Given the description of an element on the screen output the (x, y) to click on. 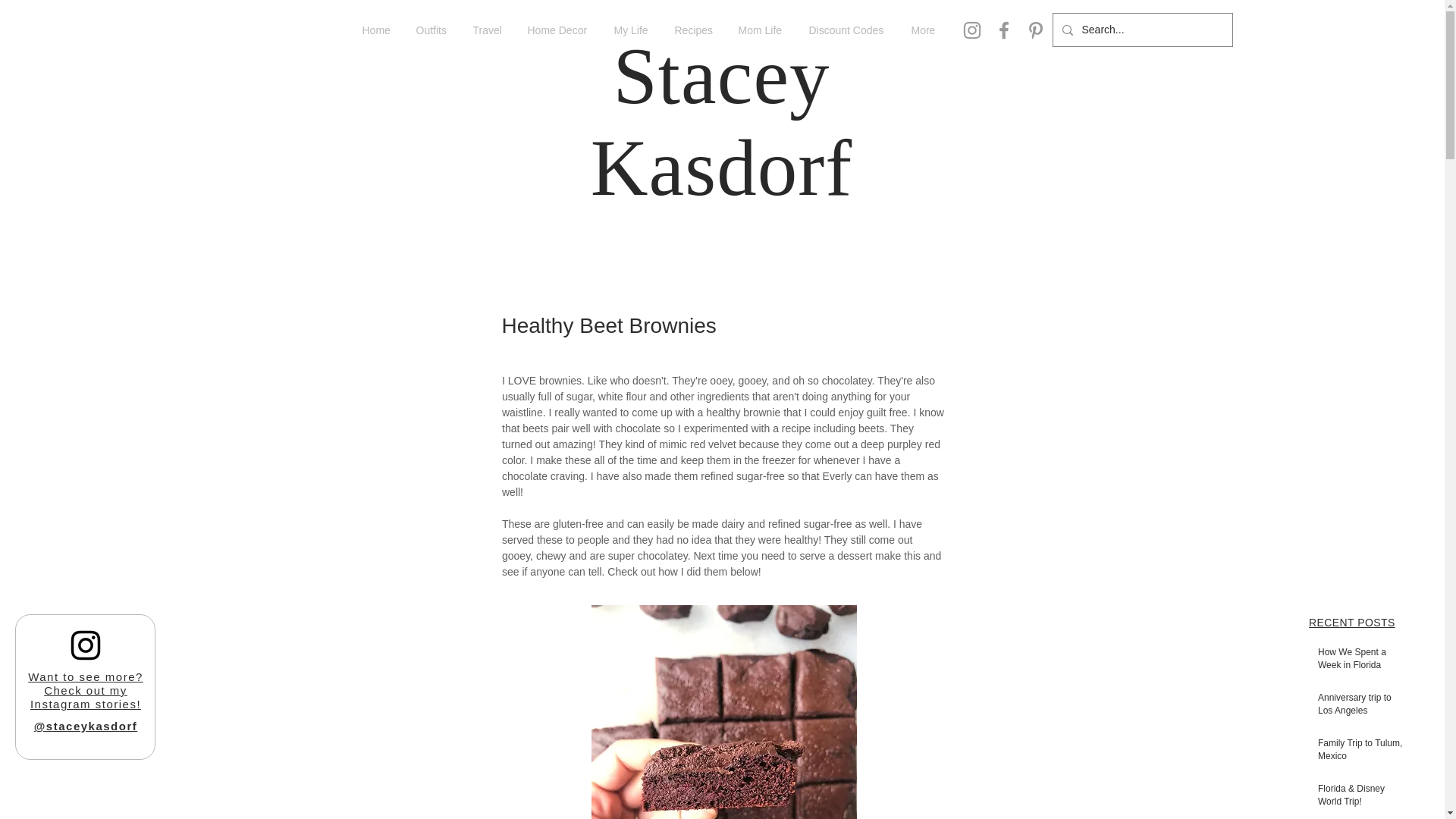
My Life (632, 30)
Travel (488, 30)
Home (377, 30)
Mom Life (761, 30)
Discount Codes (848, 30)
Home Decor (558, 30)
Outfits (432, 30)
Recipes (694, 30)
